Given the description of an element on the screen output the (x, y) to click on. 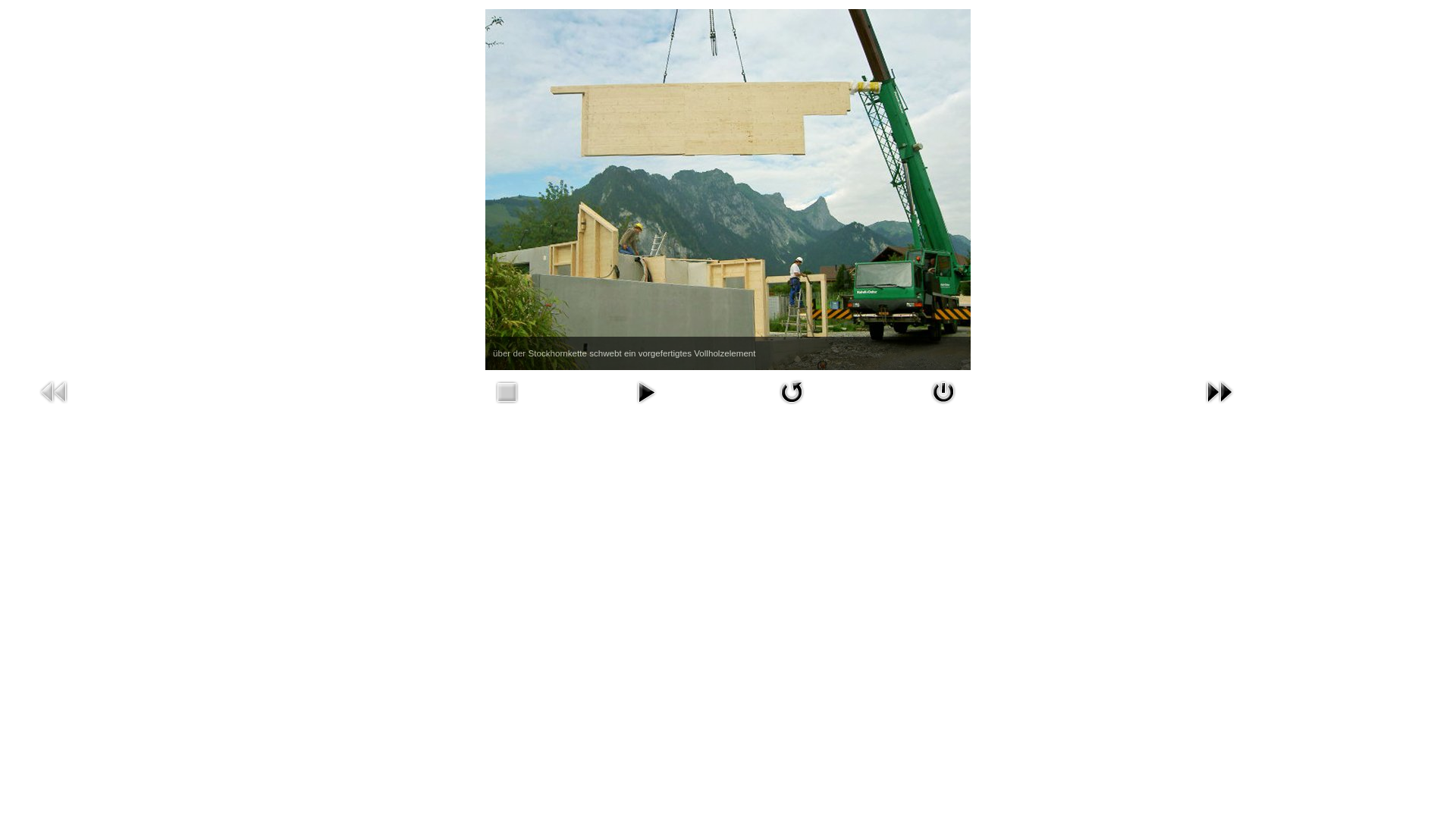
Close Window Element type: hover (943, 391)
Refresh Element type: hover (792, 391)
Next Image Element type: hover (1219, 391)
Start Slideshow Element type: hover (645, 391)
